Given the description of an element on the screen output the (x, y) to click on. 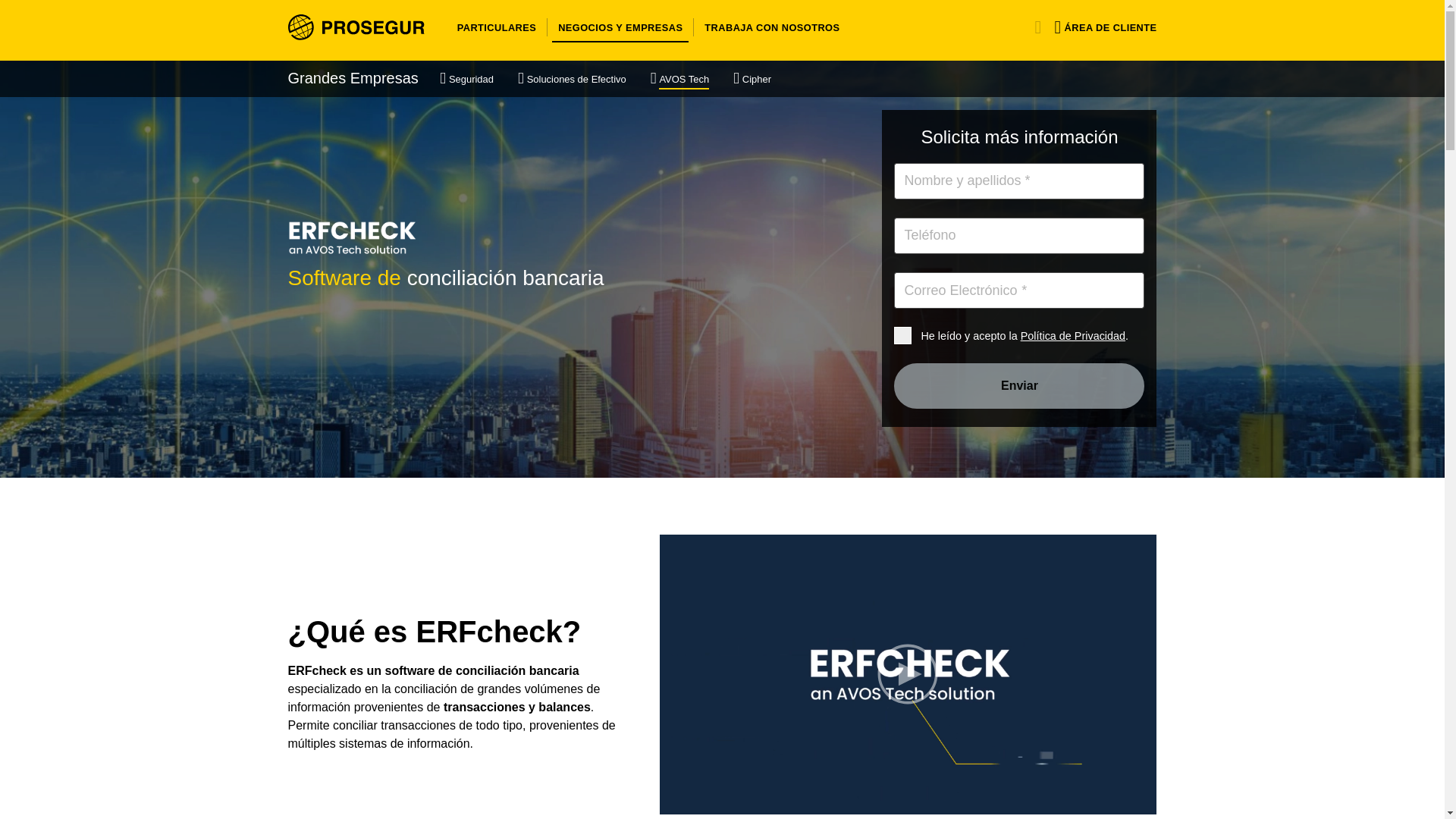
NEGOCIOS Y EMPRESAS (619, 27)
TRABAJA CON NOSOTROS (769, 27)
PARTICULARES (496, 27)
